Given the description of an element on the screen output the (x, y) to click on. 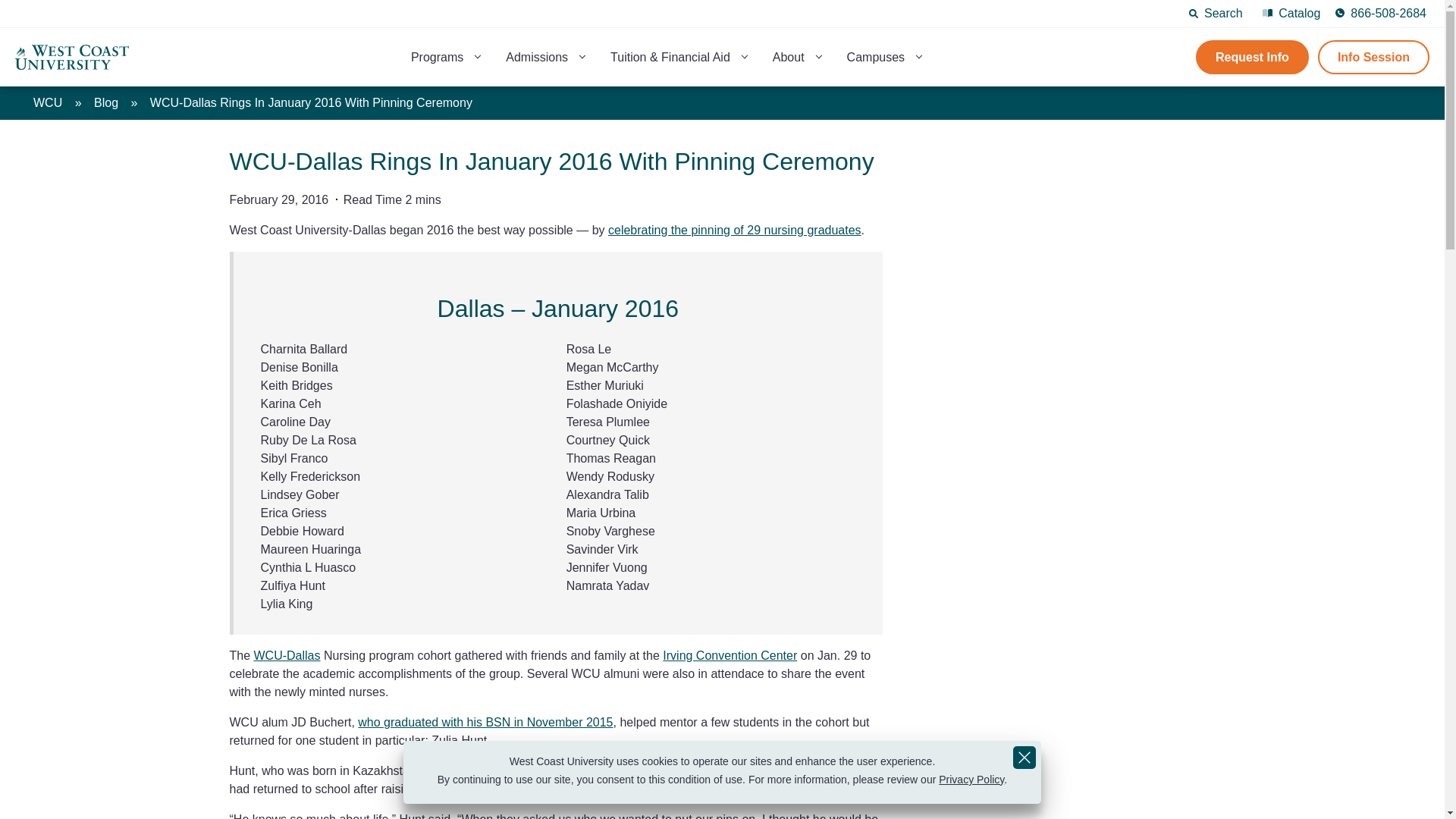
Search (1216, 13)
866-508-2684 (1380, 13)
Programs (437, 57)
